Given the description of an element on the screen output the (x, y) to click on. 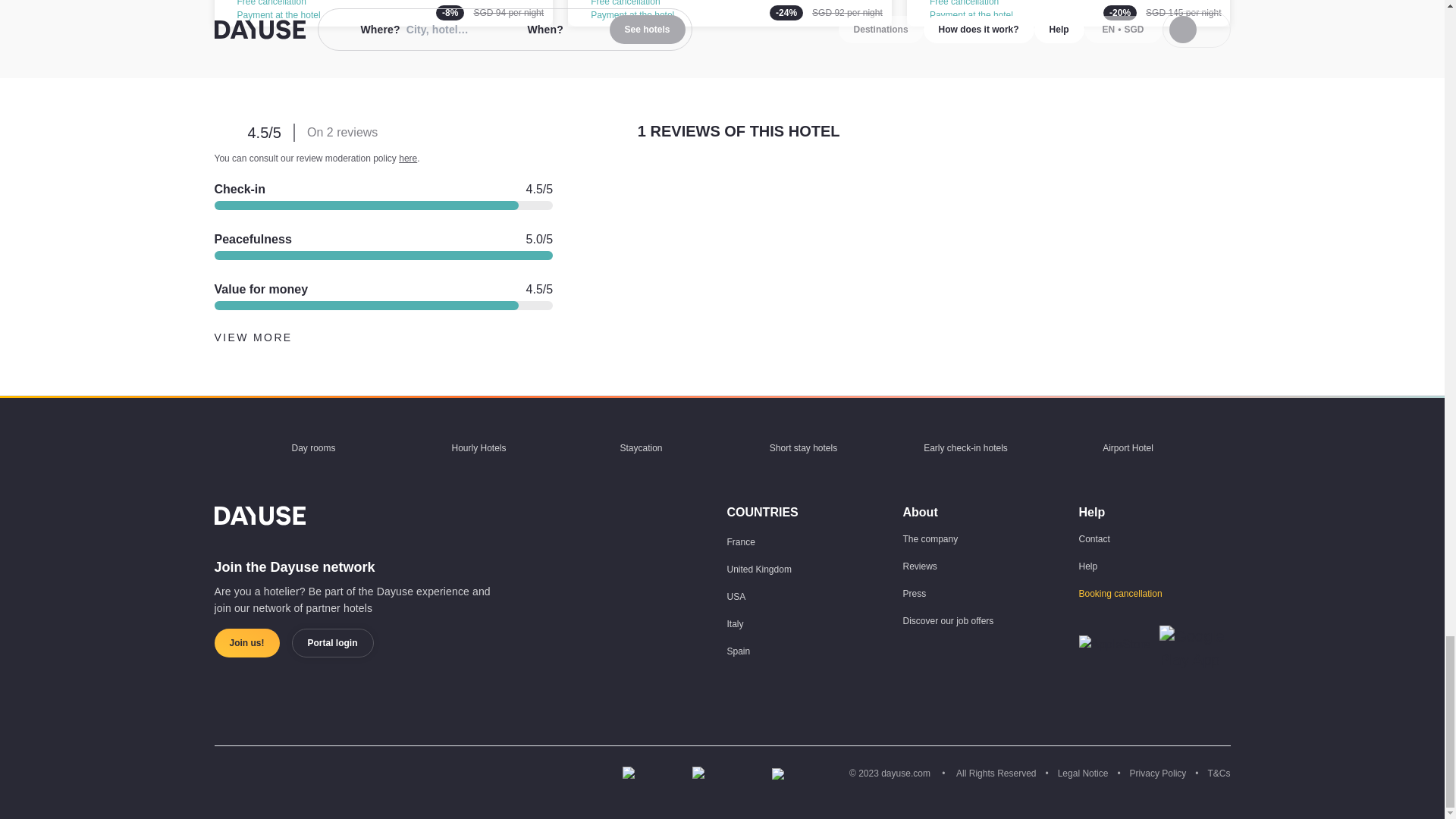
Campanile Dunkerque Loon Plage (383, 13)
ibis Calais Car Ferry (729, 13)
